Given the description of an element on the screen output the (x, y) to click on. 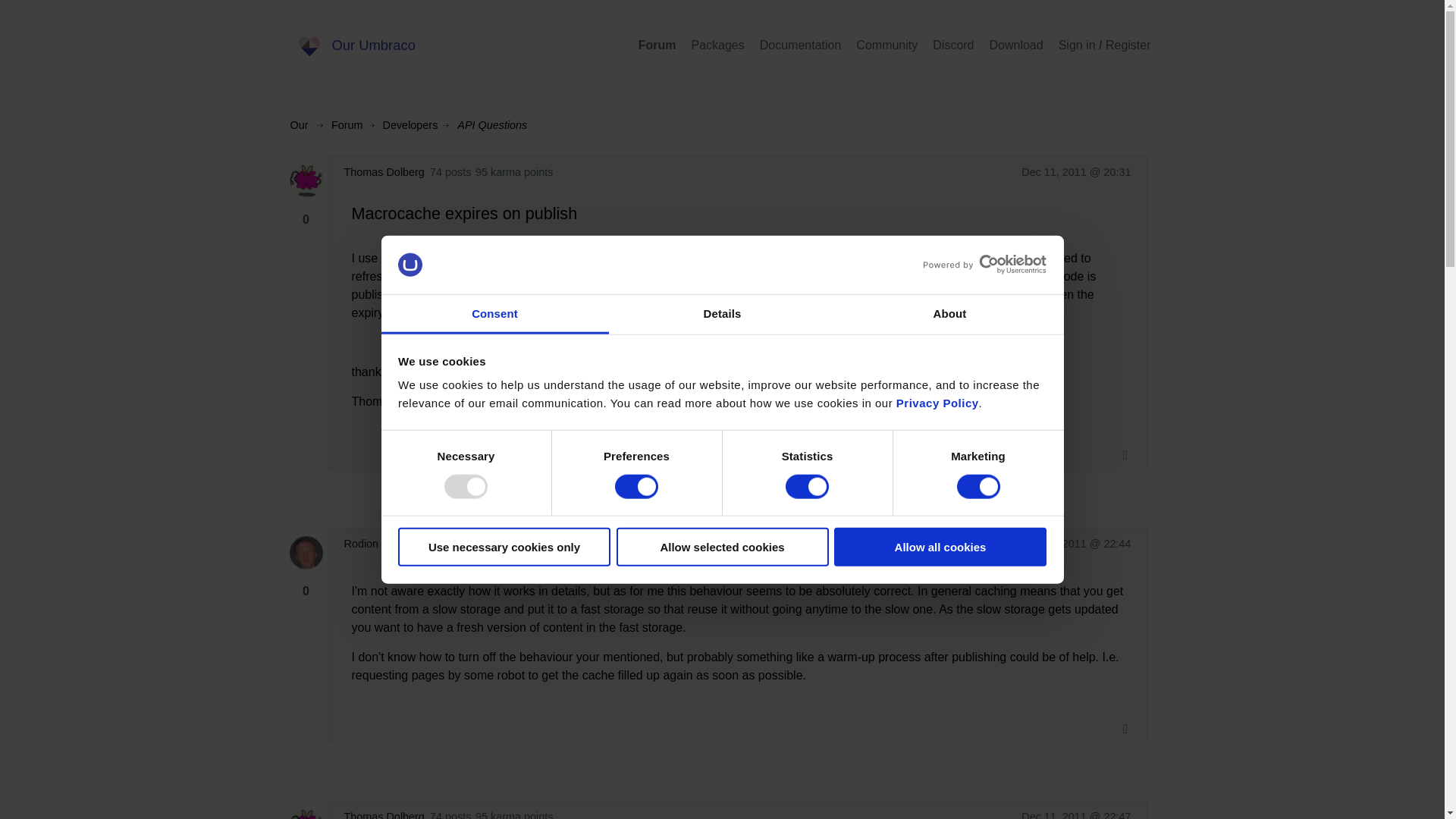
Details (721, 314)
Allow all cookies (940, 546)
Use necessary cookies only (503, 546)
About (948, 314)
Allow selected cookies (721, 546)
Privacy Policy (937, 402)
Consent (494, 314)
